Given the description of an element on the screen output the (x, y) to click on. 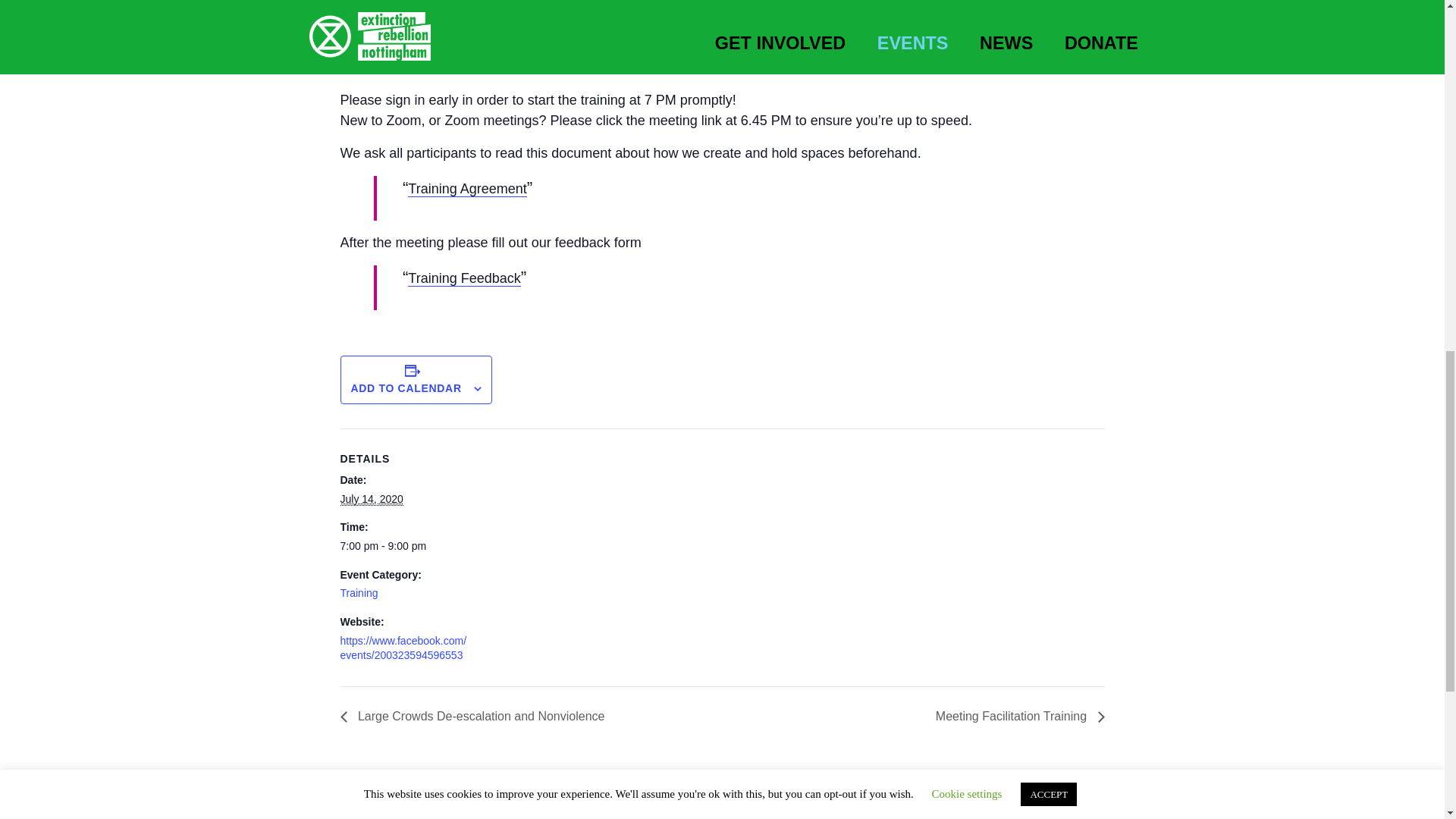
2020-07-14 (371, 499)
2020-07-14 (403, 546)
Training Feedback (463, 278)
ADD TO CALENDAR (405, 387)
Large Crowds De-escalation and Nonviolence (475, 716)
Meeting Facilitation Training (1016, 716)
Training Agreement (466, 188)
Training (358, 592)
